Given the description of an element on the screen output the (x, y) to click on. 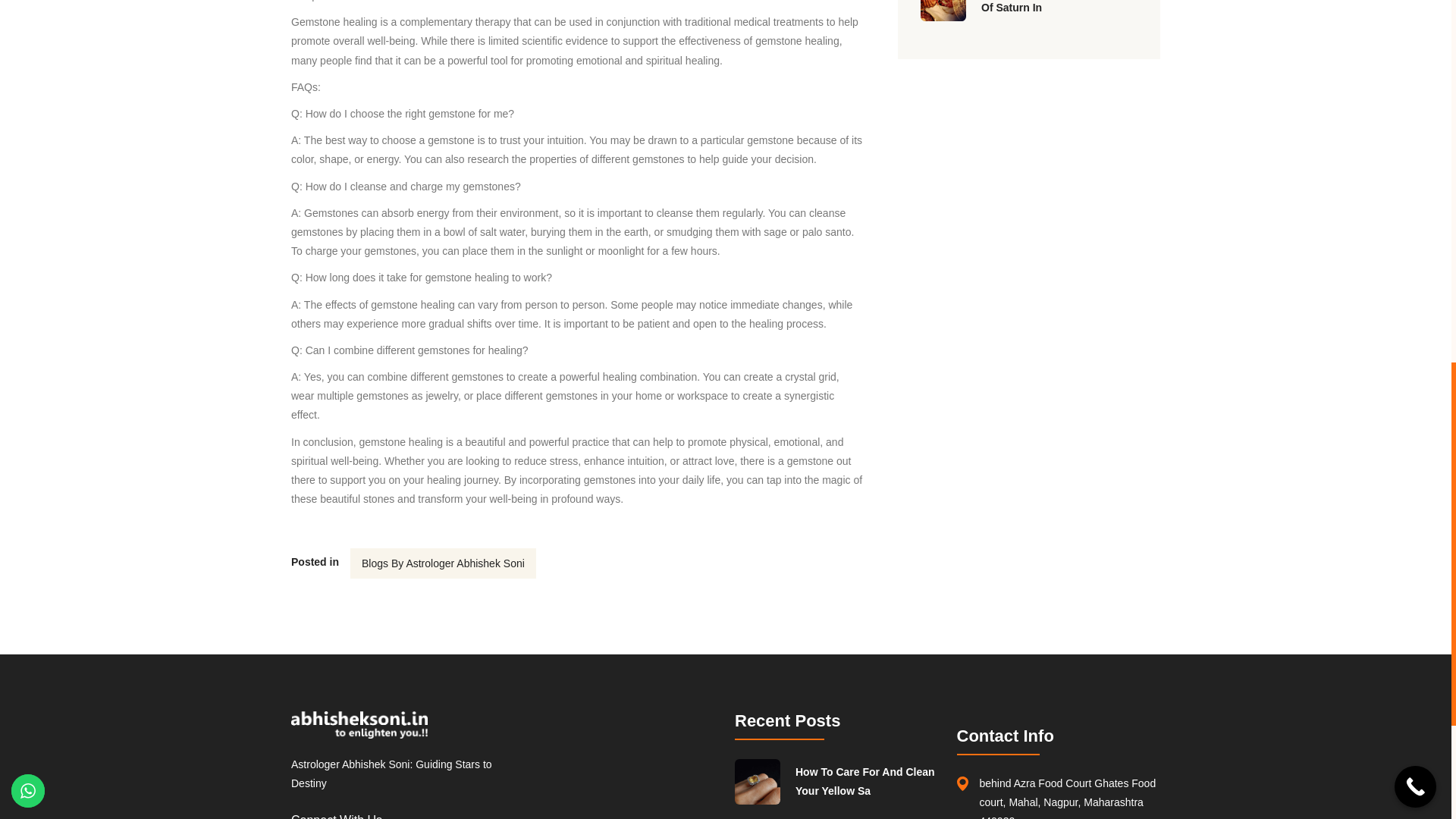
How To Care For And Clean Your Yellow Sa (866, 781)
Understanding The Influence Of Saturn In (1059, 8)
Blogs By Astrologer Abhishek Soni (442, 562)
